Given the description of an element on the screen output the (x, y) to click on. 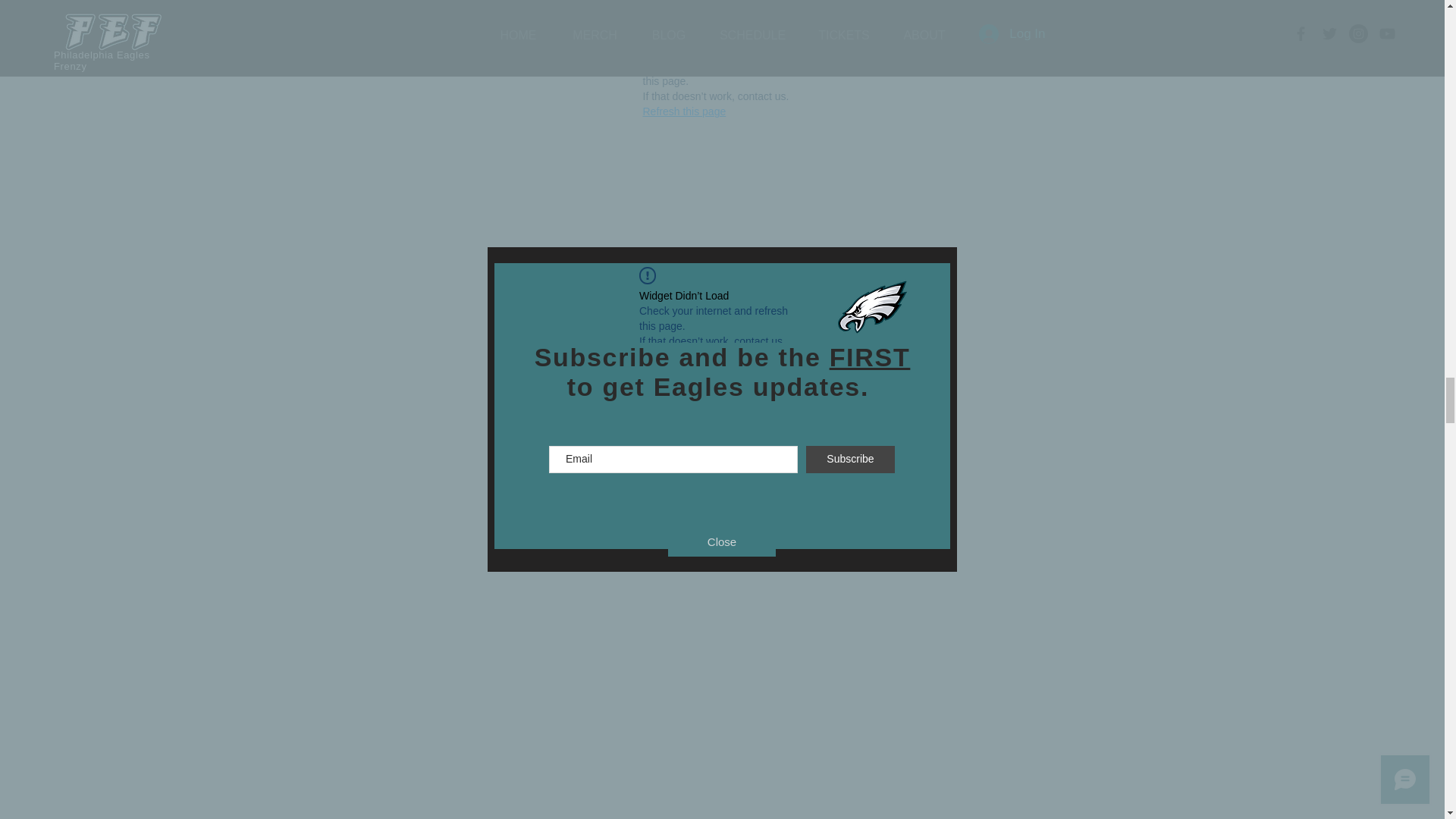
Refresh this page (684, 111)
